Given the description of an element on the screen output the (x, y) to click on. 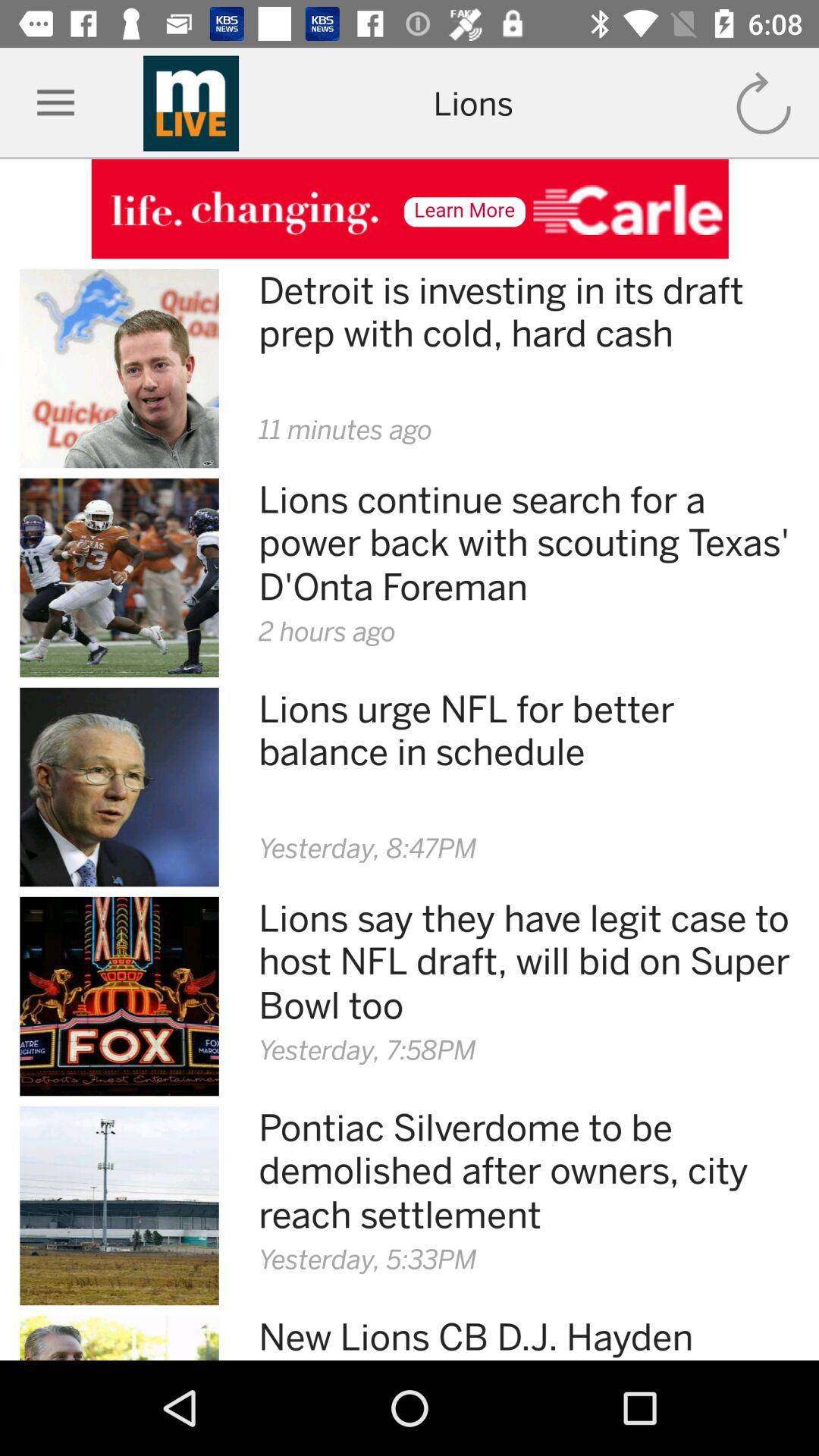
app options (55, 103)
